Given the description of an element on the screen output the (x, y) to click on. 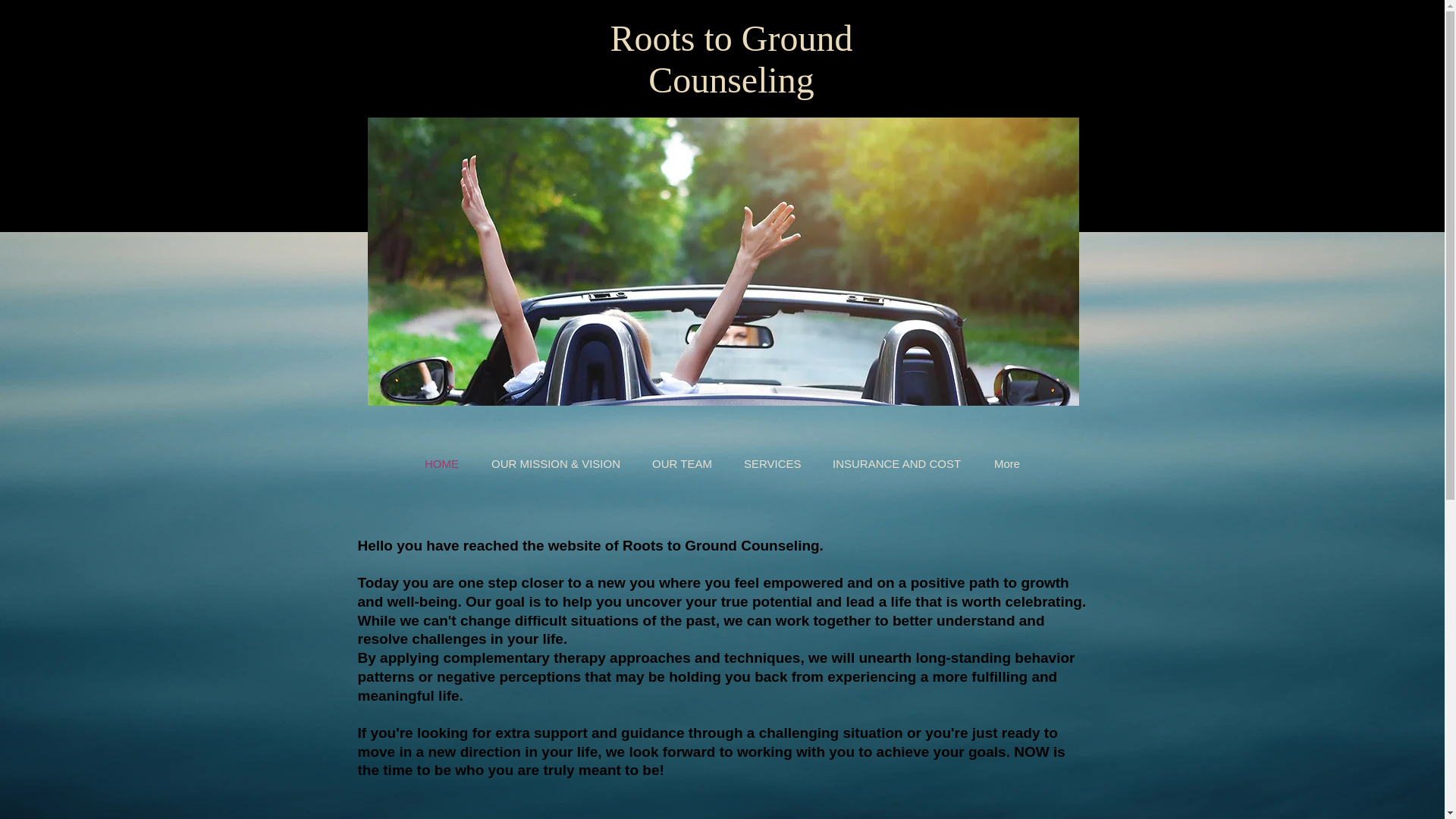
Roots to Ground Counseling (730, 58)
SERVICES (772, 463)
HOME (442, 463)
INSURANCE AND COST (897, 463)
OUR TEAM (682, 463)
